Given the description of an element on the screen output the (x, y) to click on. 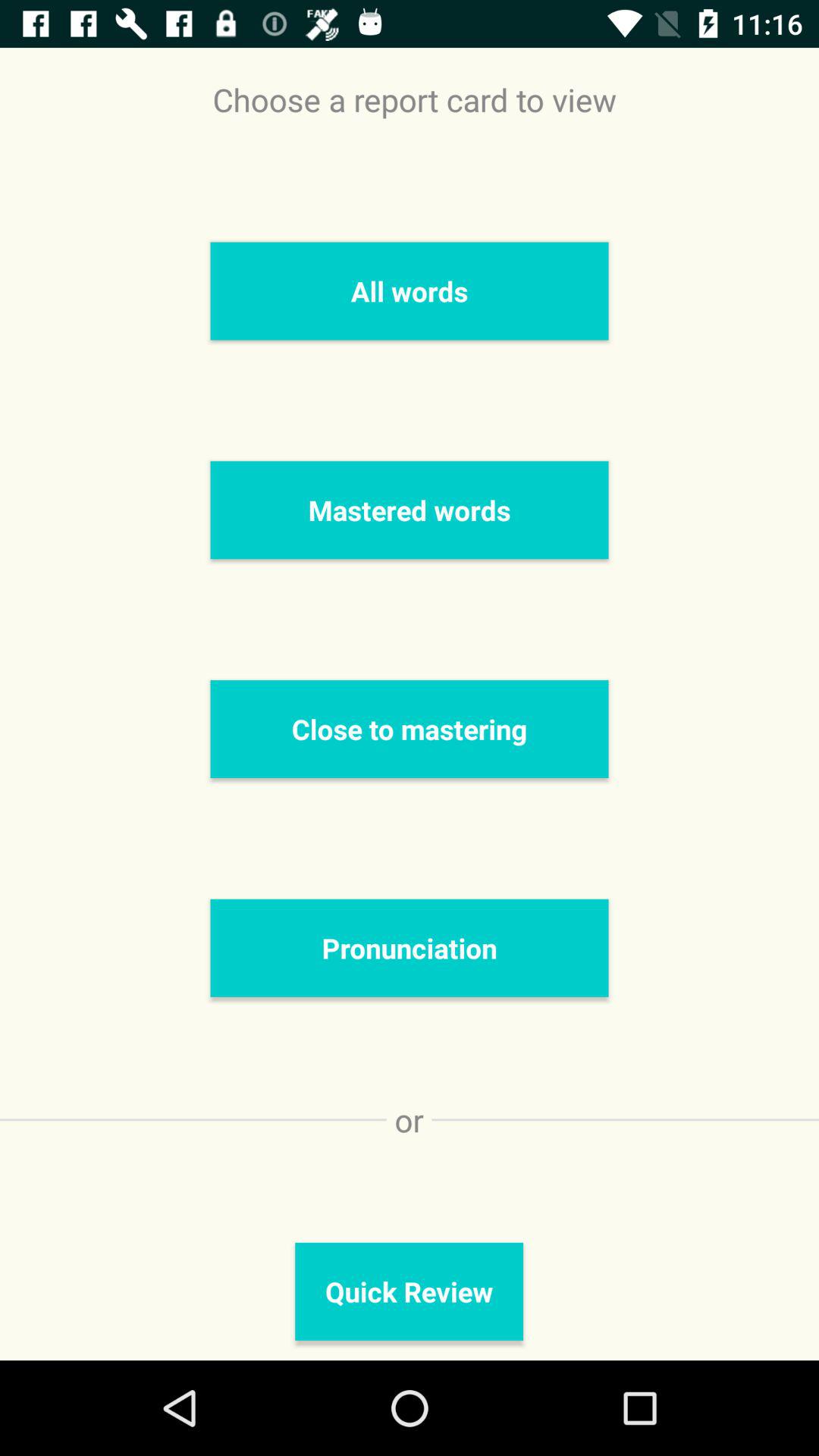
flip until all words item (409, 291)
